Given the description of an element on the screen output the (x, y) to click on. 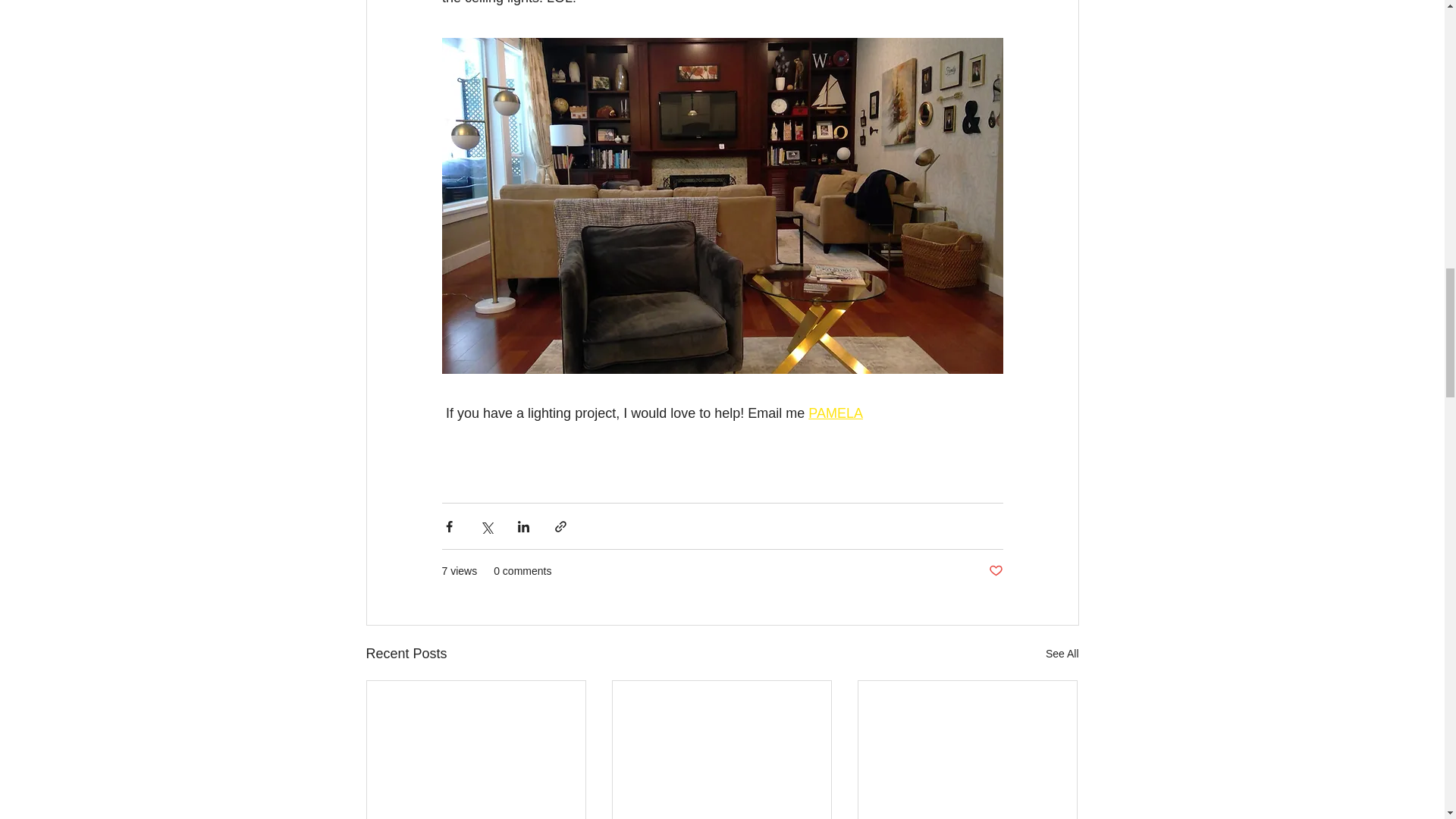
See All (1061, 653)
Post not marked as liked (995, 571)
PAMELA (835, 412)
